Given the description of an element on the screen output the (x, y) to click on. 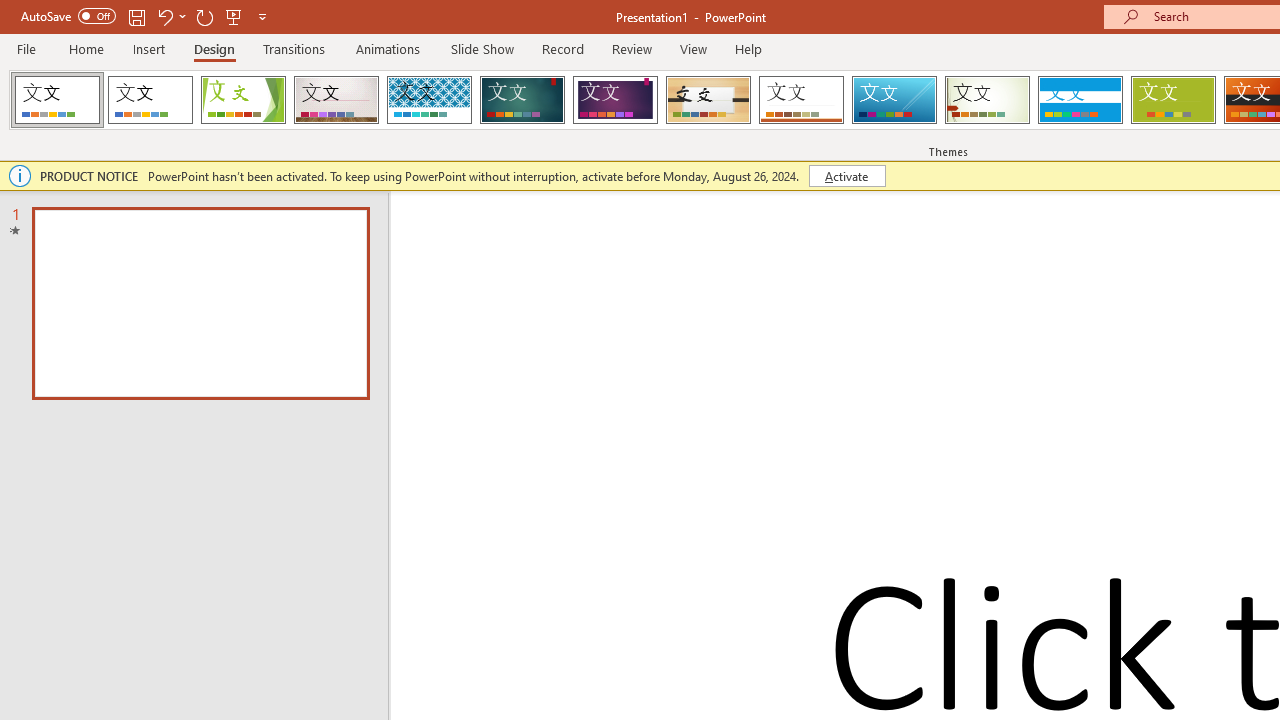
Ion (522, 100)
Ion Boardroom (615, 100)
Banded (1080, 100)
